Given the description of an element on the screen output the (x, y) to click on. 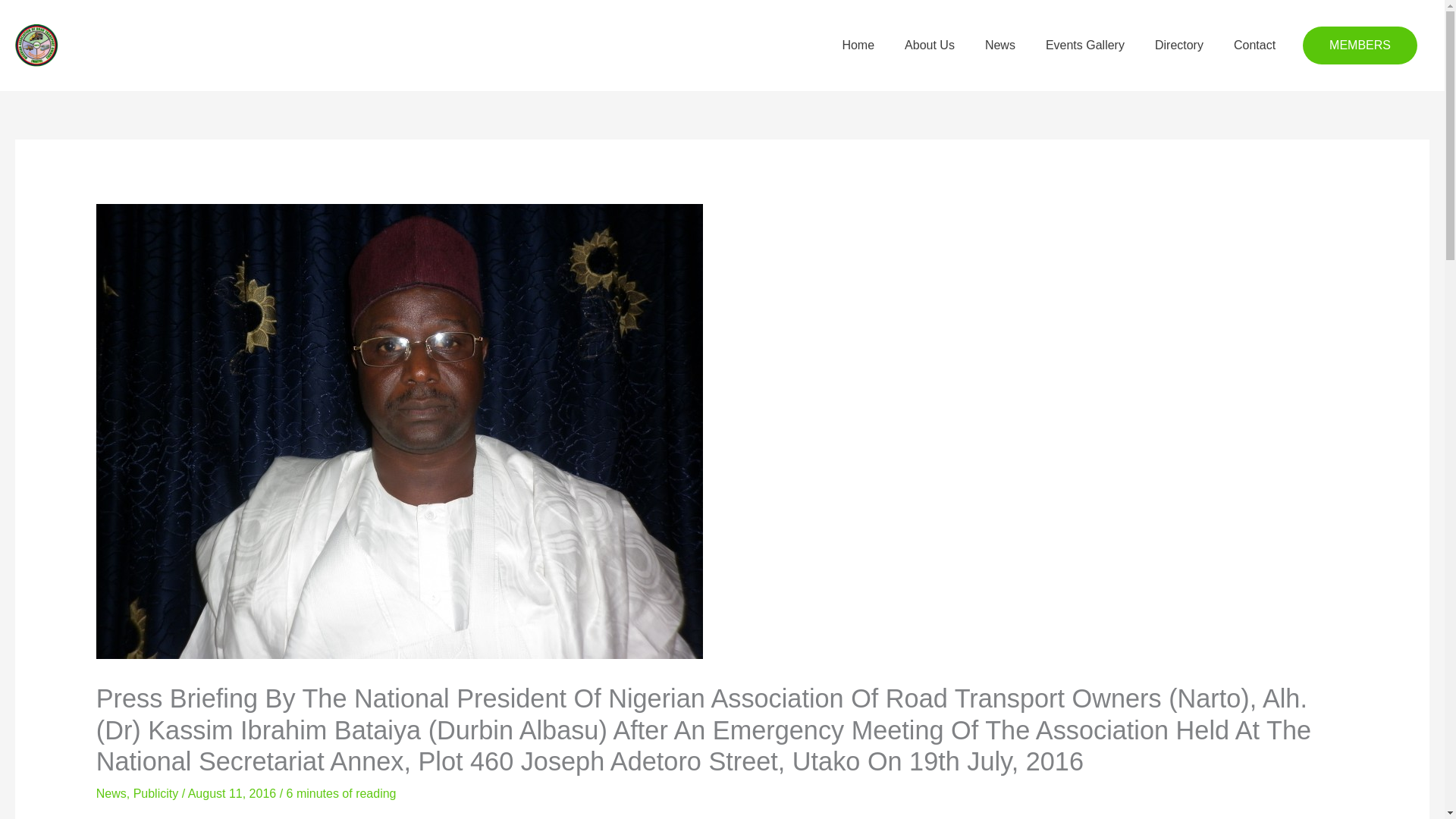
Directory (1179, 45)
News (999, 45)
News (111, 793)
Home (858, 45)
About Us (929, 45)
Publicity (156, 793)
MEMBERS (1359, 45)
Contact (1254, 45)
Events Gallery (1085, 45)
